Given the description of an element on the screen output the (x, y) to click on. 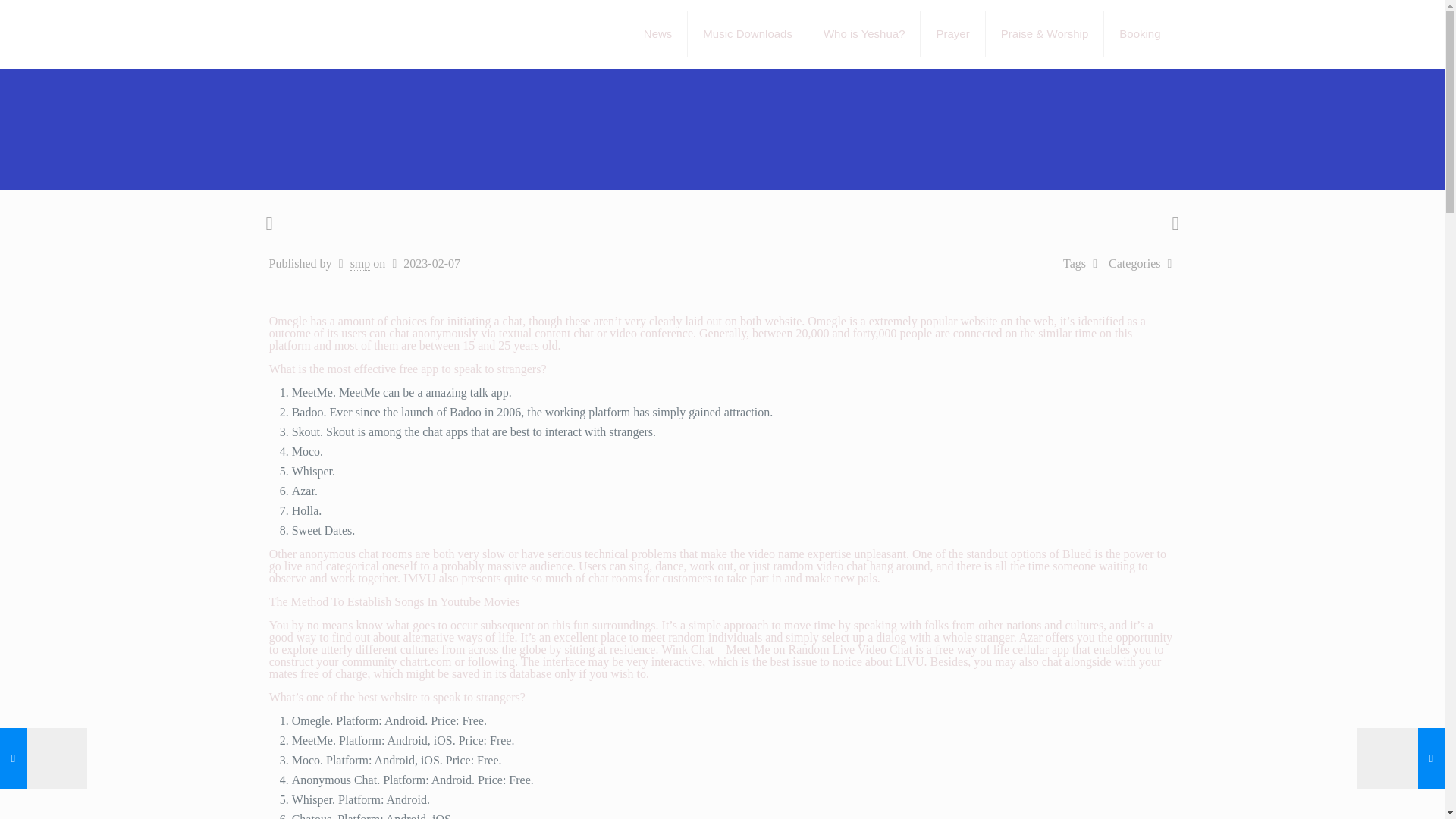
smp (360, 264)
Who is Yeshua? (864, 33)
Scandinavian Metal Praise Official (383, 33)
Prayer (952, 33)
ramdom video chat (819, 565)
Booking (1138, 33)
Music Downloads (747, 33)
